Given the description of an element on the screen output the (x, y) to click on. 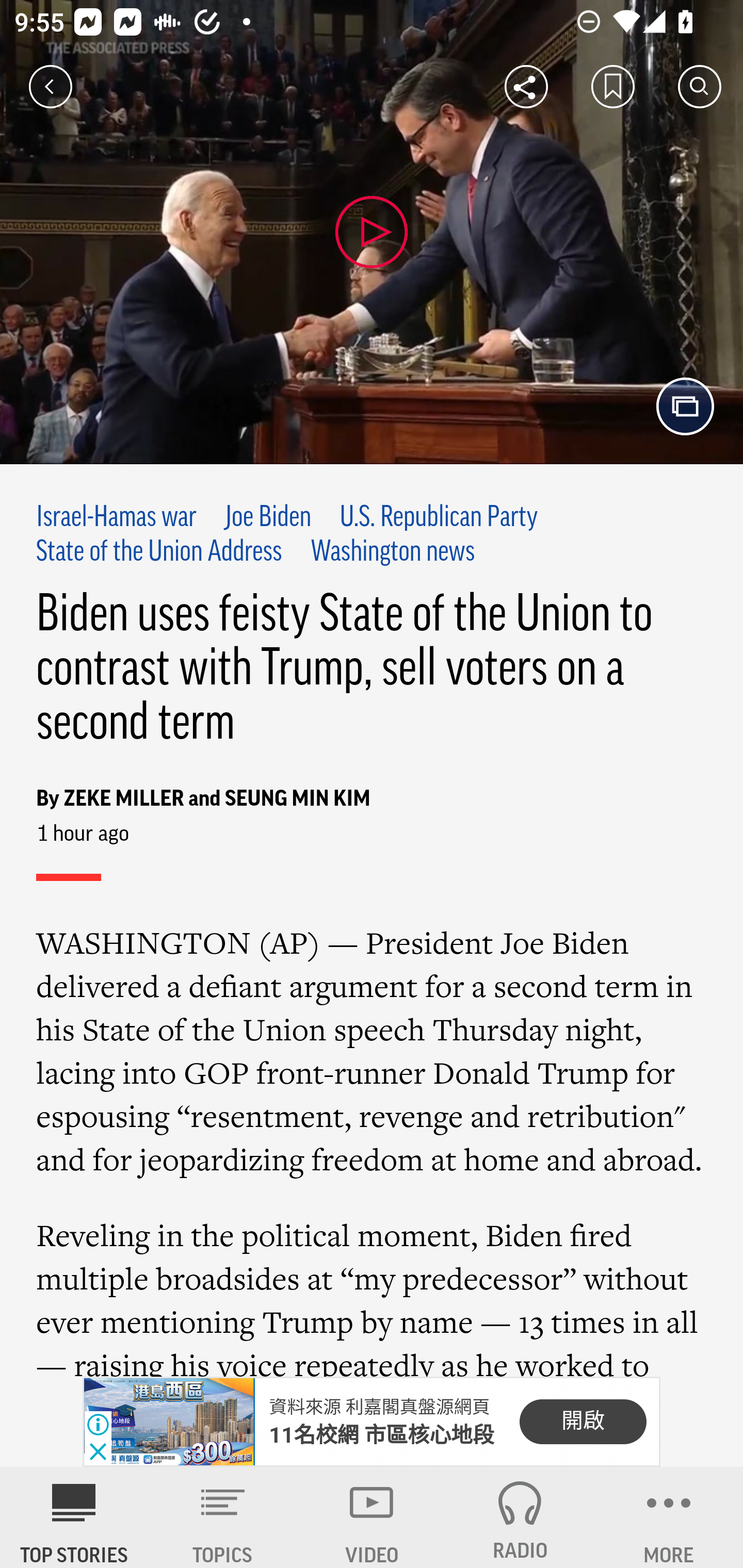
Israel-Hamas war (117, 518)
Joe Biden (267, 518)
U.S. Republican Party (438, 518)
State of the Union Address (159, 552)
Washington news (393, 552)
B29957867 (168, 1421)
資料來源 利嘉閣真盤源網頁 (379, 1407)
開啟 (582, 1421)
11名校網 市區核心地段 (381, 1435)
AP News TOP STORIES (74, 1517)
TOPICS (222, 1517)
VIDEO (371, 1517)
RADIO (519, 1517)
MORE (668, 1517)
